Given the description of an element on the screen output the (x, y) to click on. 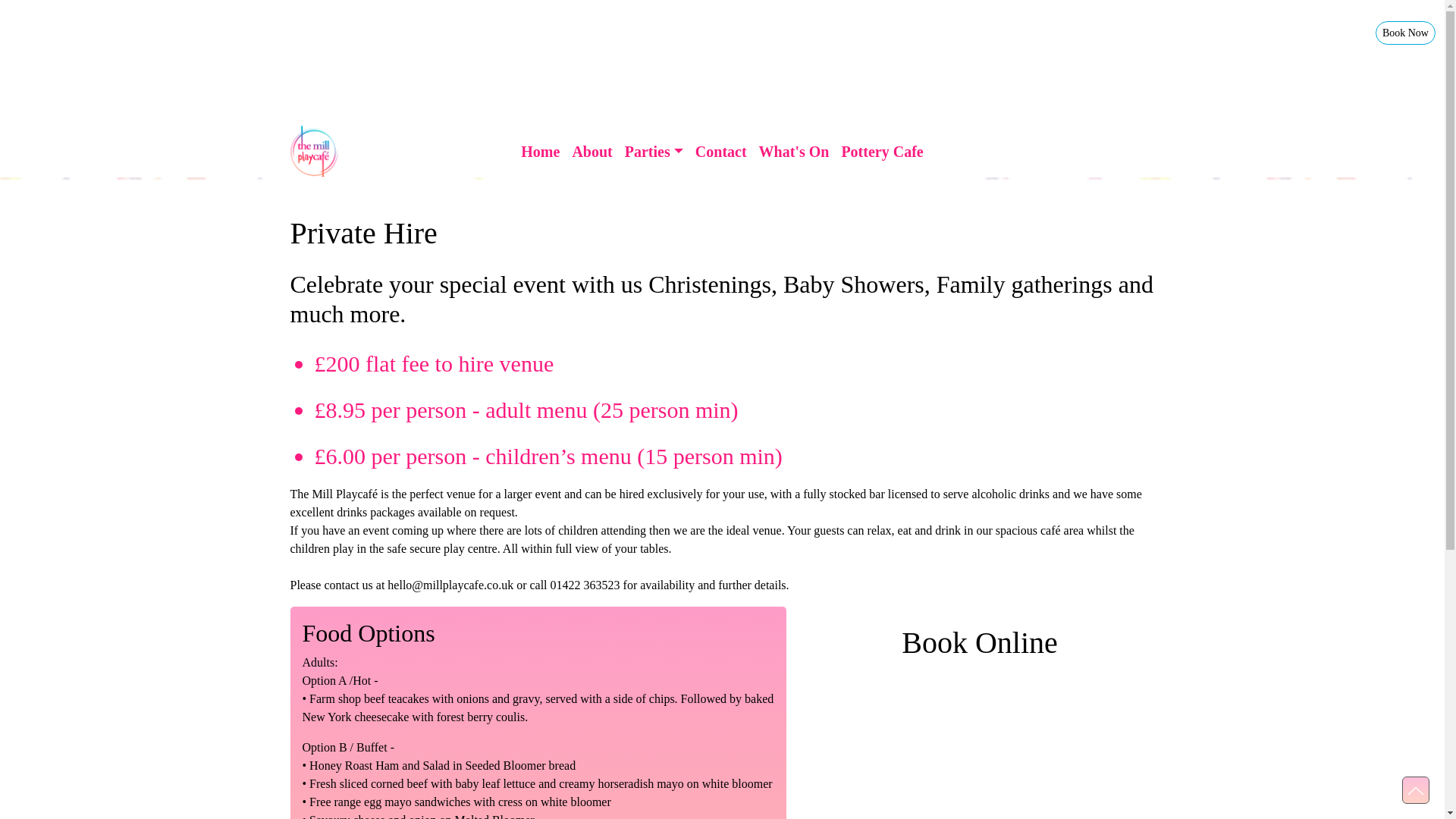
What's On (793, 151)
Pottery Cafe (881, 151)
Contact (720, 151)
Home (540, 151)
About (591, 151)
Book Now (1405, 33)
Parties (653, 151)
